Given the description of an element on the screen output the (x, y) to click on. 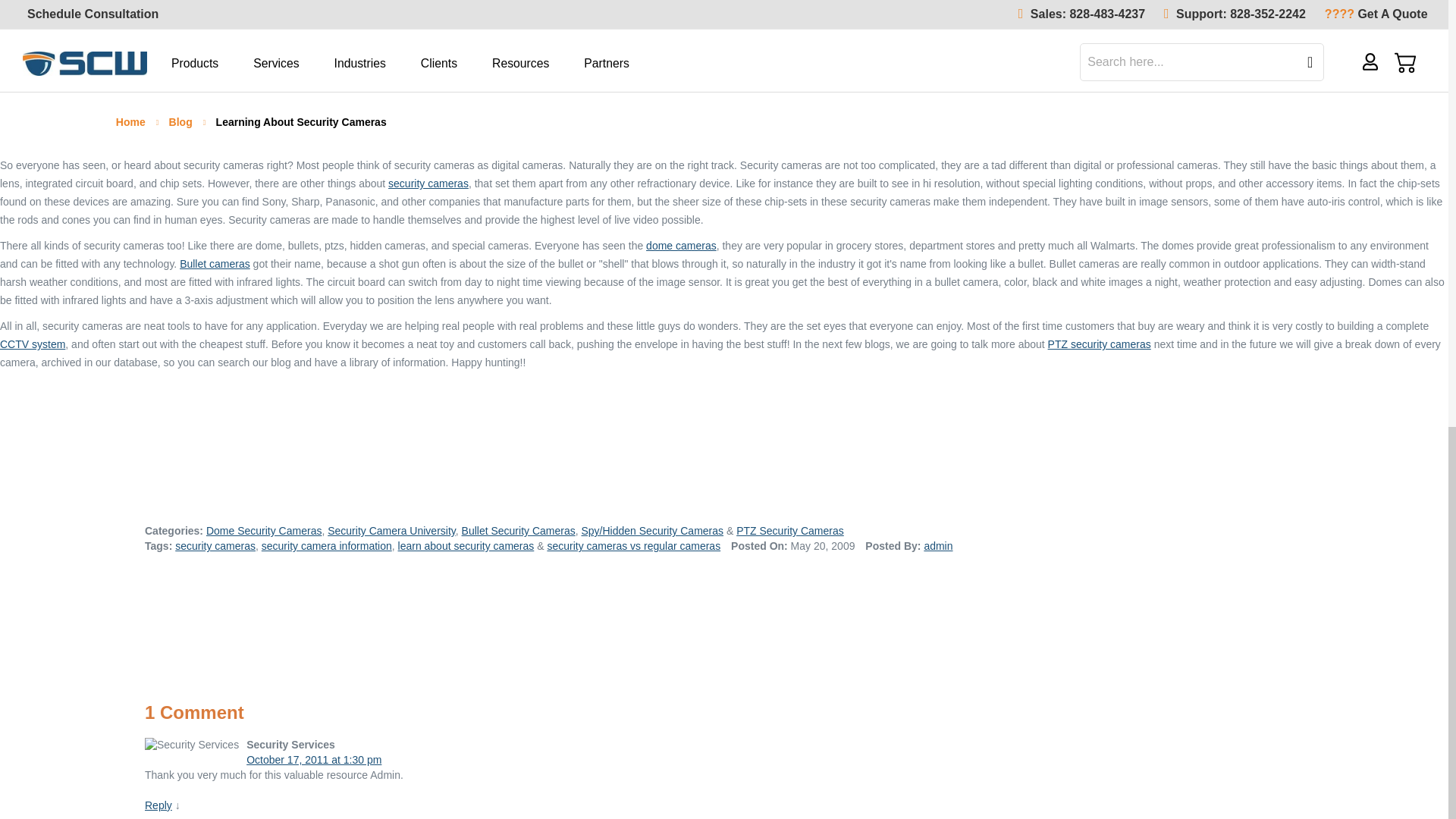
???? Get A Quote  (1377, 13)
Support: 828-352-2242 (1234, 13)
Security Camera Warehouse (85, 63)
Products (197, 63)
Go to Home Page (132, 121)
Schedule Consultation (89, 13)
Security Camera Warehouse (85, 61)
Sales: 828-483-4237 (1080, 13)
Services (280, 63)
